Given the description of an element on the screen output the (x, y) to click on. 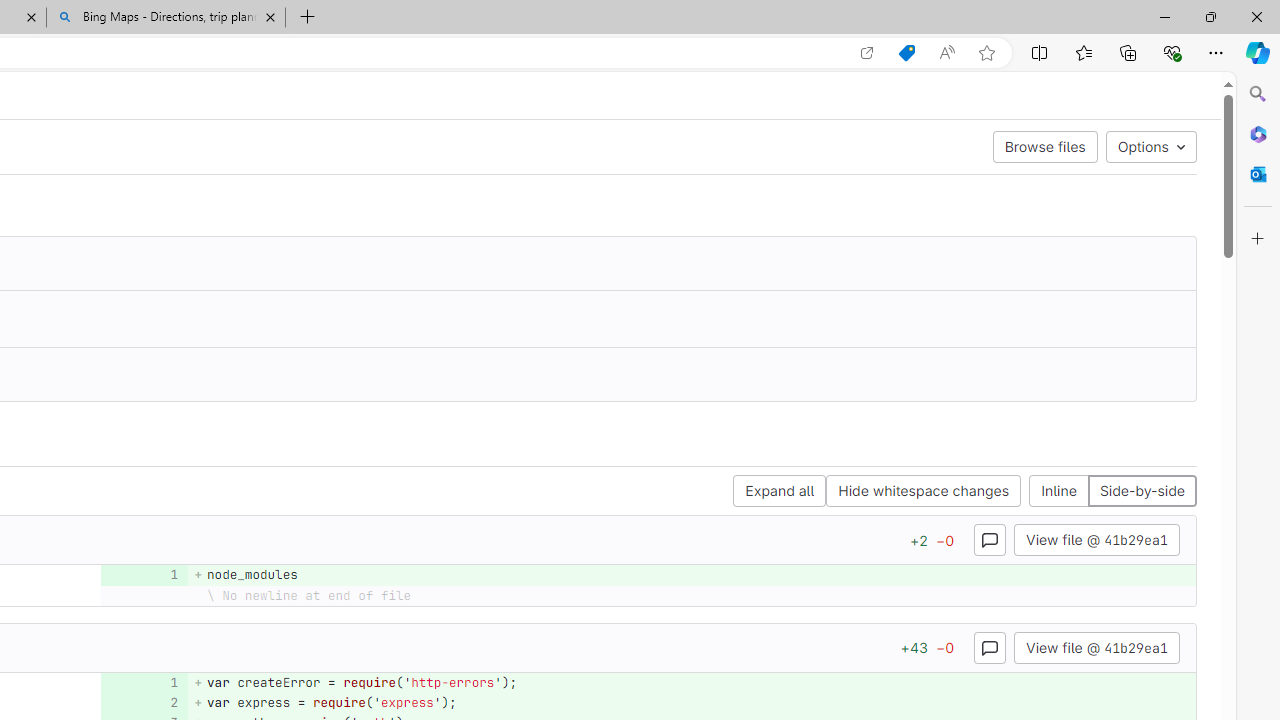
Class: s12 (137, 700)
Open in app (867, 53)
